Given the description of an element on the screen output the (x, y) to click on. 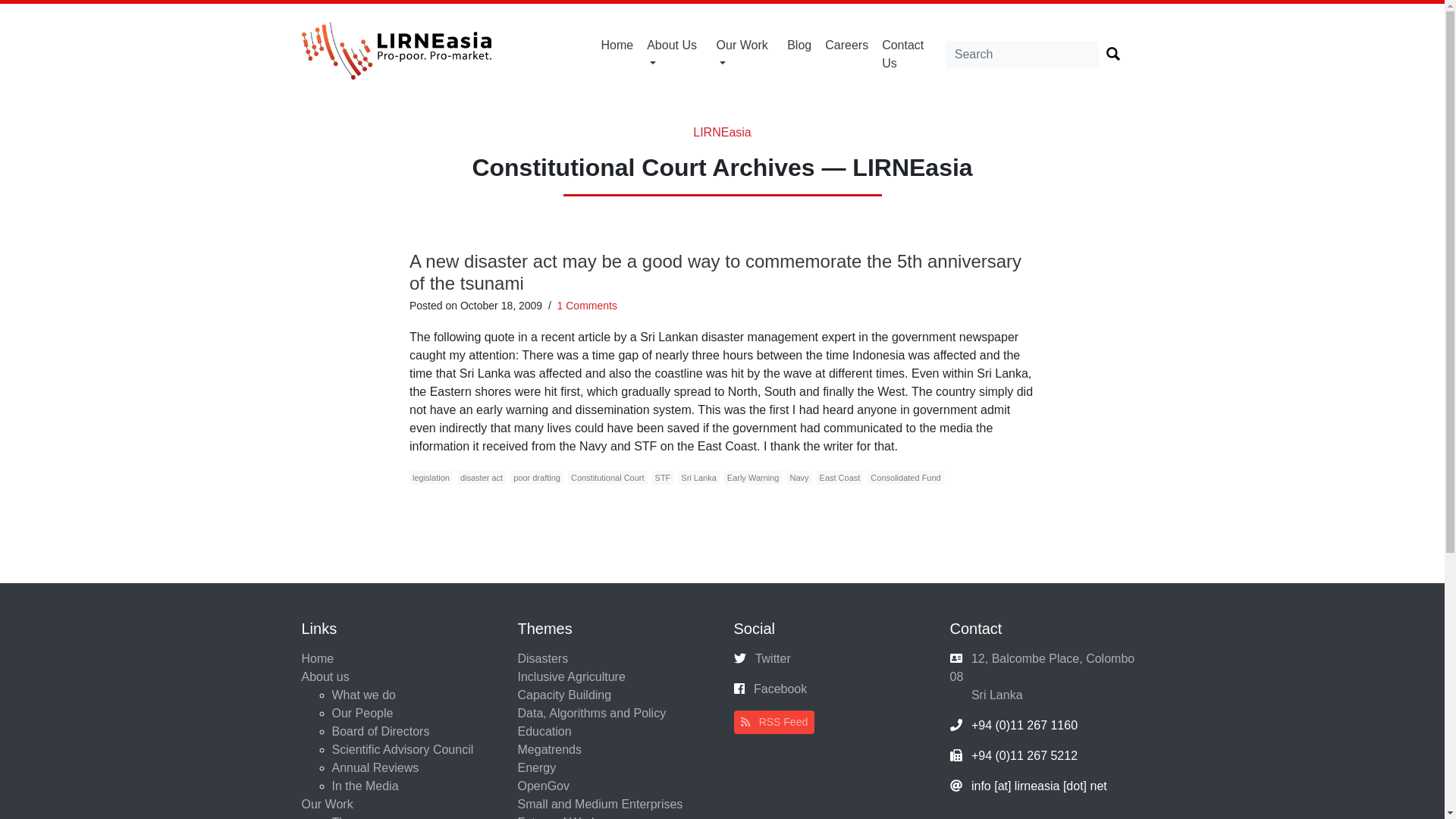
Blog (799, 45)
Careers (846, 45)
Contact us (909, 54)
Careers (846, 45)
Home (617, 45)
1 Comments (587, 305)
LIRNEasia (722, 132)
Our Work (745, 54)
About Us (674, 54)
Blog (799, 45)
About us (674, 54)
Contact Us (909, 54)
Our Work (745, 54)
Home (617, 45)
